Given the description of an element on the screen output the (x, y) to click on. 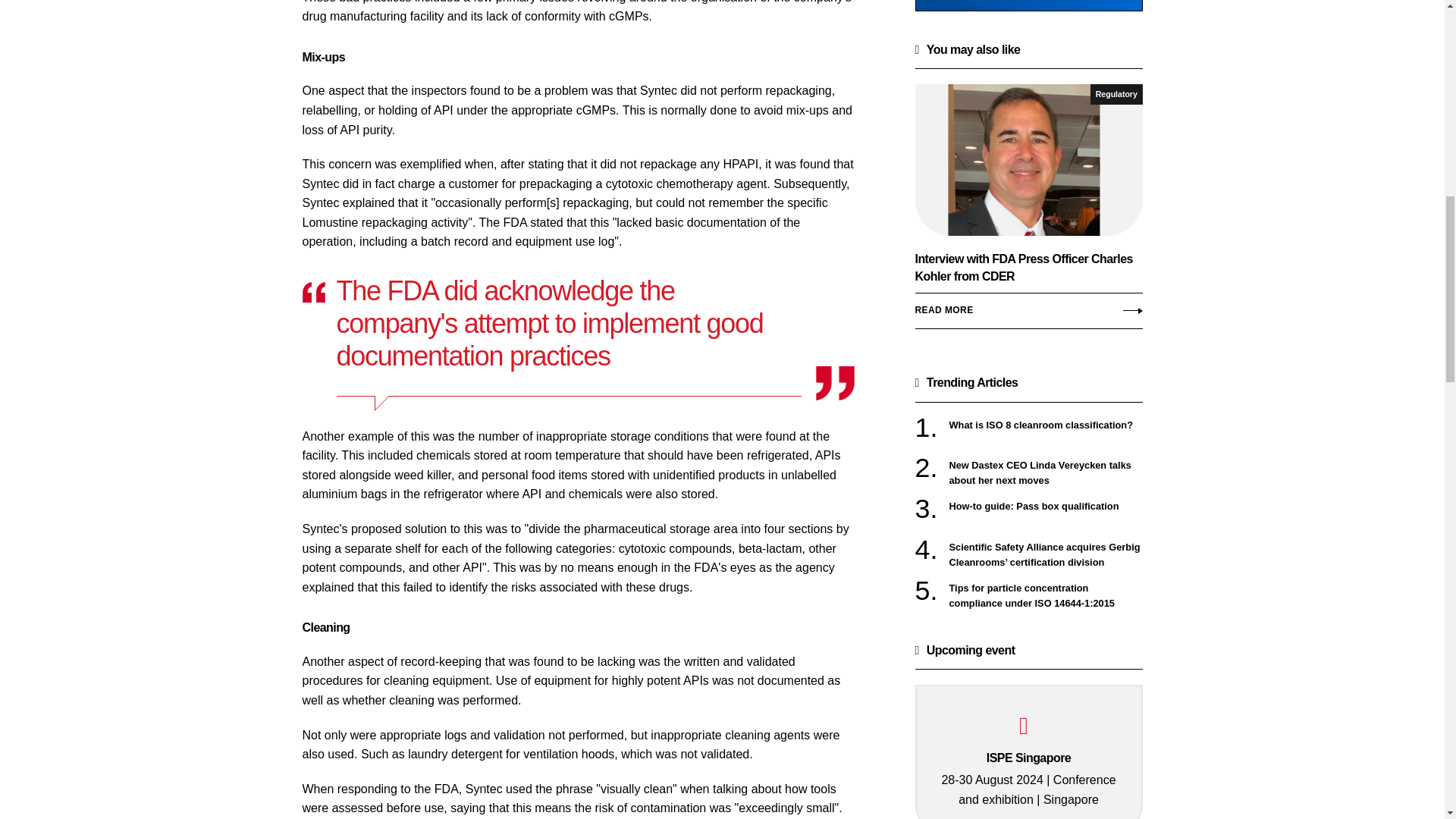
Regulatory (1115, 94)
New Dastex CEO Linda Vereycken talks about her next moves (1045, 472)
What is ISO 8 cleanroom classification? (1045, 425)
How-to guide: Pass box qualification (1045, 506)
